Given the description of an element on the screen output the (x, y) to click on. 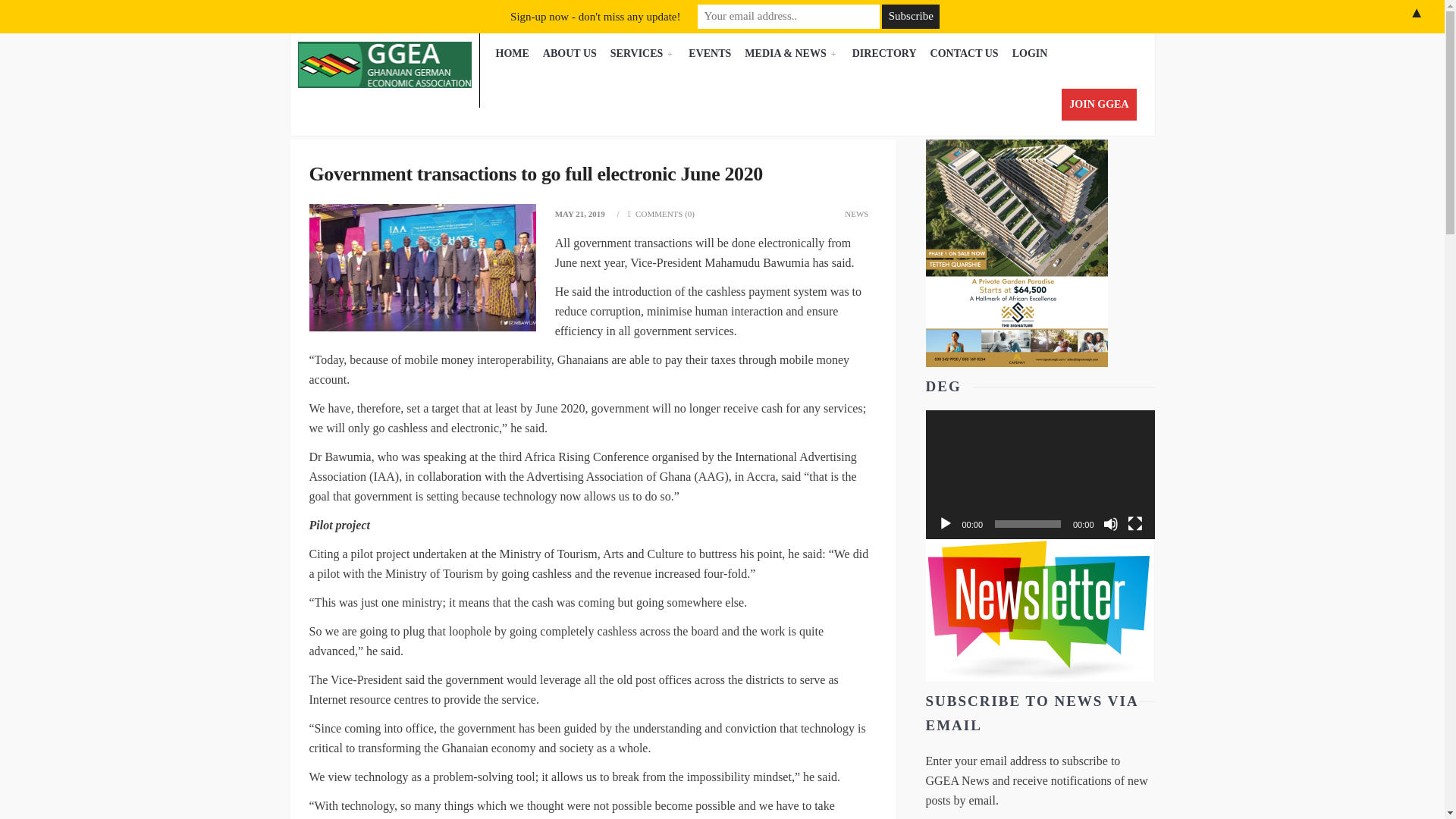
CONTACT US (964, 54)
JOIN GGEA (1098, 104)
LOGIN (1030, 54)
Twitter (1083, 10)
LinkedIn (1102, 10)
ABOUT US (569, 54)
Government transactions to go full electronic June 2020 (535, 173)
HOME (511, 54)
DIRECTORY (884, 54)
EVENTS (709, 54)
NEWS (855, 213)
Facebook (1062, 10)
Mute (1110, 523)
Subscribe (910, 16)
Fullscreen (1133, 523)
